Given the description of an element on the screen output the (x, y) to click on. 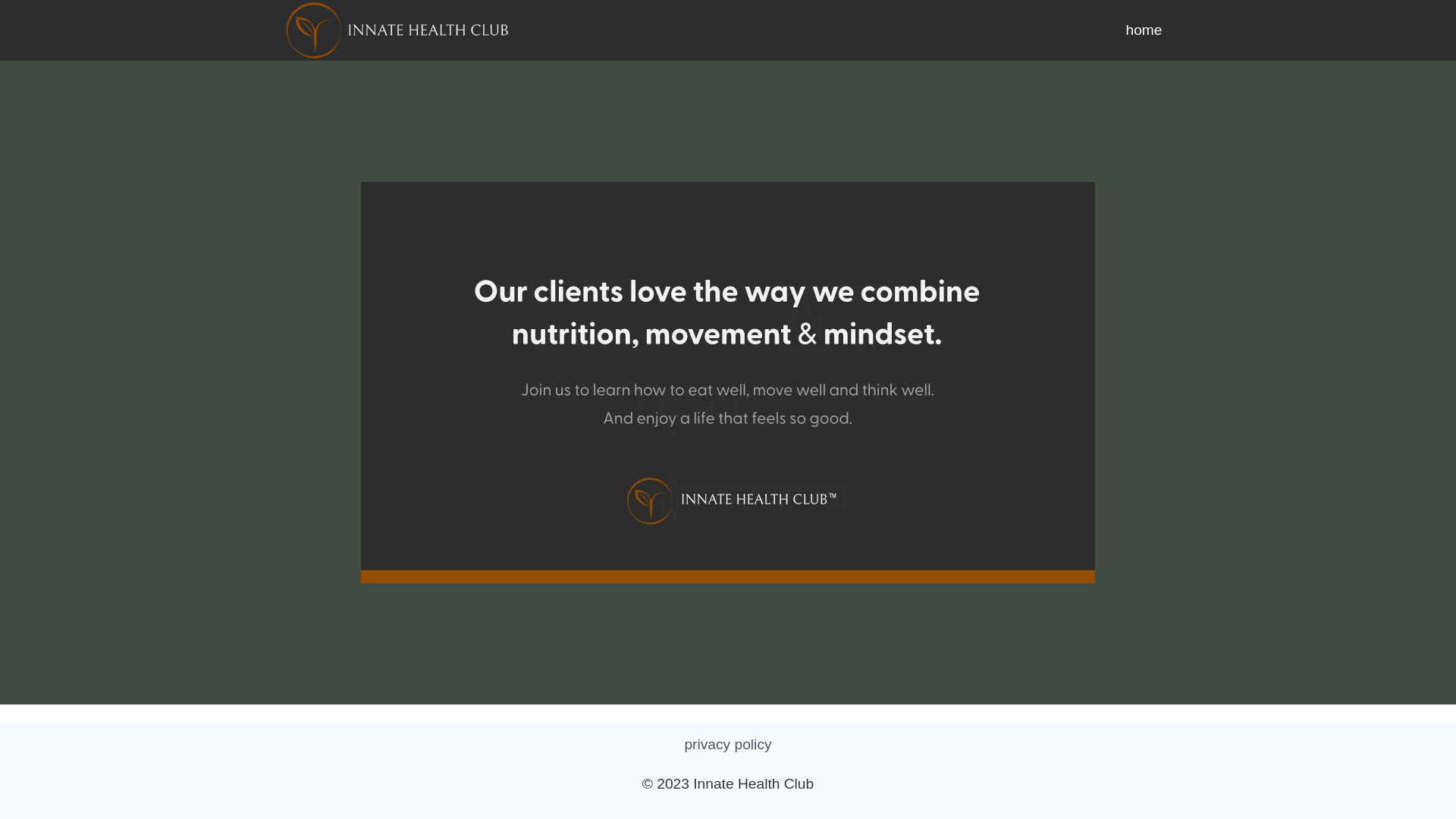
privacy policy Element type: text (727, 744)
home Element type: text (1143, 29)
